Given the description of an element on the screen output the (x, y) to click on. 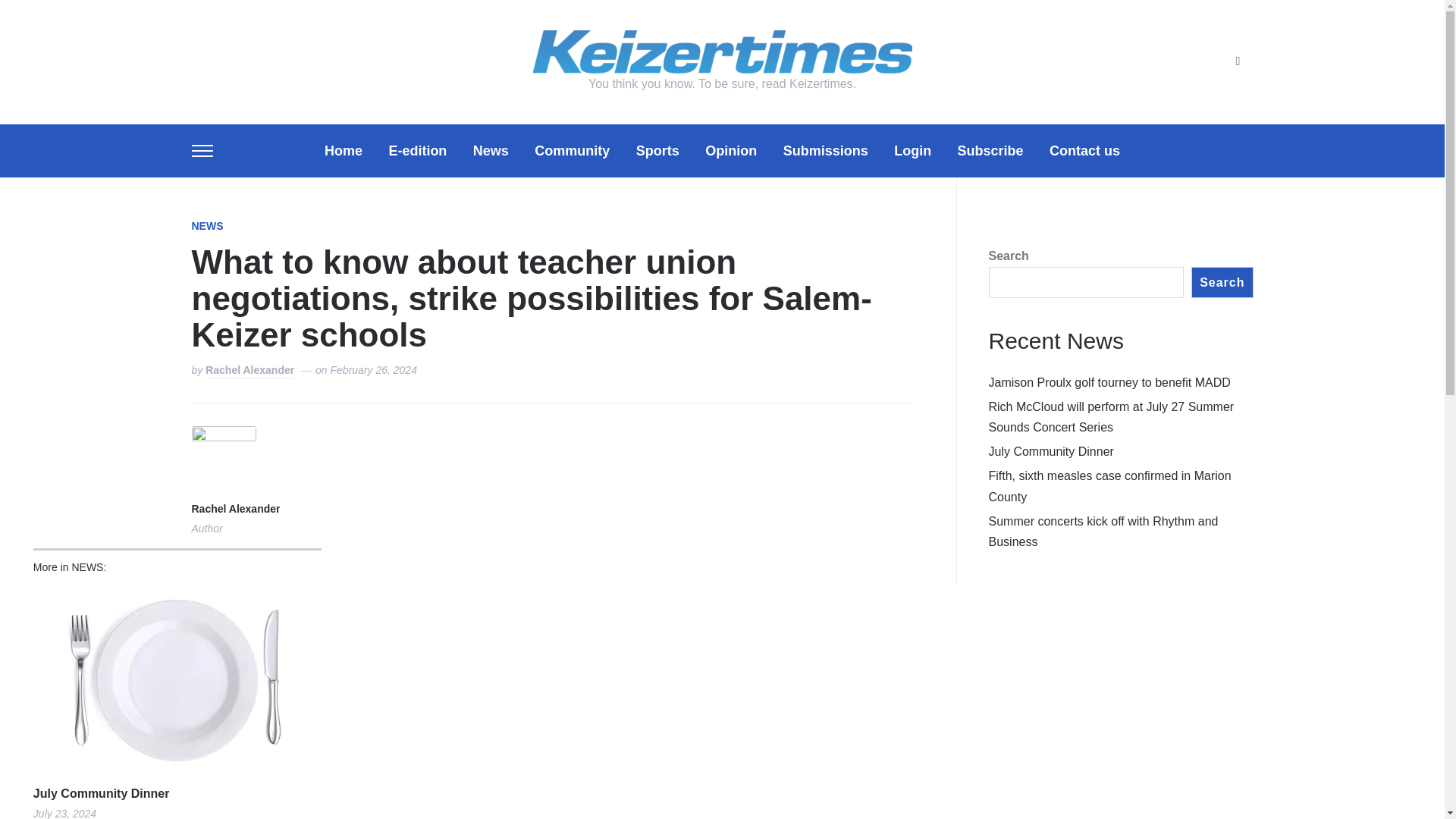
Subscribe (990, 150)
Rachel Alexander (249, 370)
Permalink to July Community Dinner (177, 793)
Posts by Rachel Alexander (234, 510)
Home (343, 150)
Login (912, 150)
E-edition (417, 150)
Posts by Rachel Alexander (249, 370)
Search (1237, 61)
Permalink to July Community Dinner (177, 678)
July Community Dinner (177, 793)
Submissions (825, 150)
Community (572, 150)
Contact us (1084, 150)
News (490, 150)
